Given the description of an element on the screen output the (x, y) to click on. 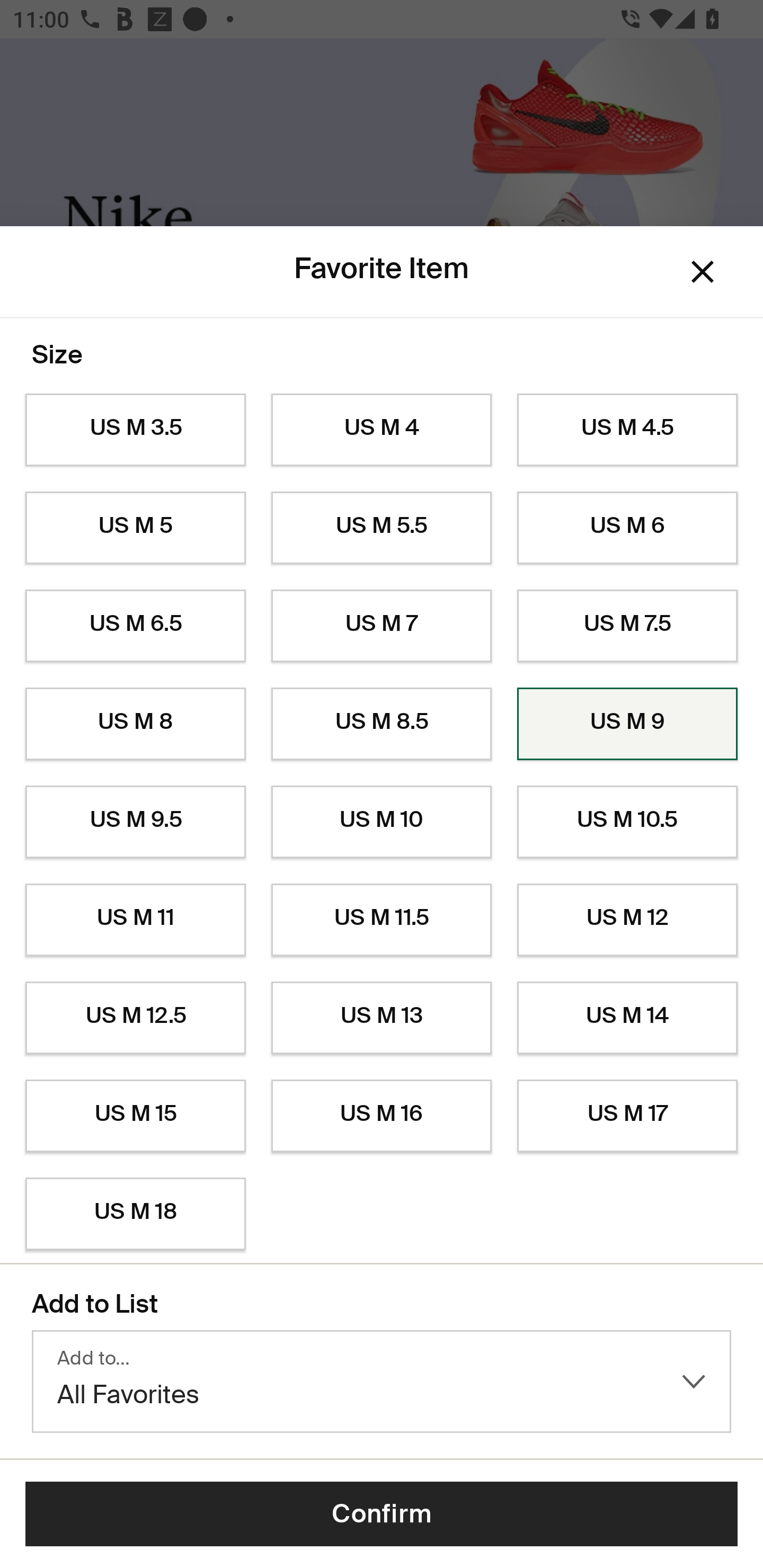
Dismiss (702, 271)
US M 3.5 (135, 430)
US M 4 (381, 430)
US M 4.5 (627, 430)
US M 5 (135, 527)
US M 5.5 (381, 527)
US M 6 (627, 527)
US M 6.5 (135, 626)
US M 7 (381, 626)
US M 7.5 (627, 626)
US M 8 (135, 724)
US M 8.5 (381, 724)
US M 9 (627, 724)
US M 9.5 (135, 822)
US M 10 (381, 822)
US M 10.5 (627, 822)
US M 11 (135, 919)
US M 11.5 (381, 919)
US M 12 (627, 919)
US M 12.5 (135, 1018)
US M 13 (381, 1018)
US M 14 (627, 1018)
US M 15 (135, 1116)
US M 16 (381, 1116)
US M 17 (627, 1116)
US M 18 (135, 1214)
Add to… All Favorites (381, 1381)
Confirm (381, 1513)
